Given the description of an element on the screen output the (x, y) to click on. 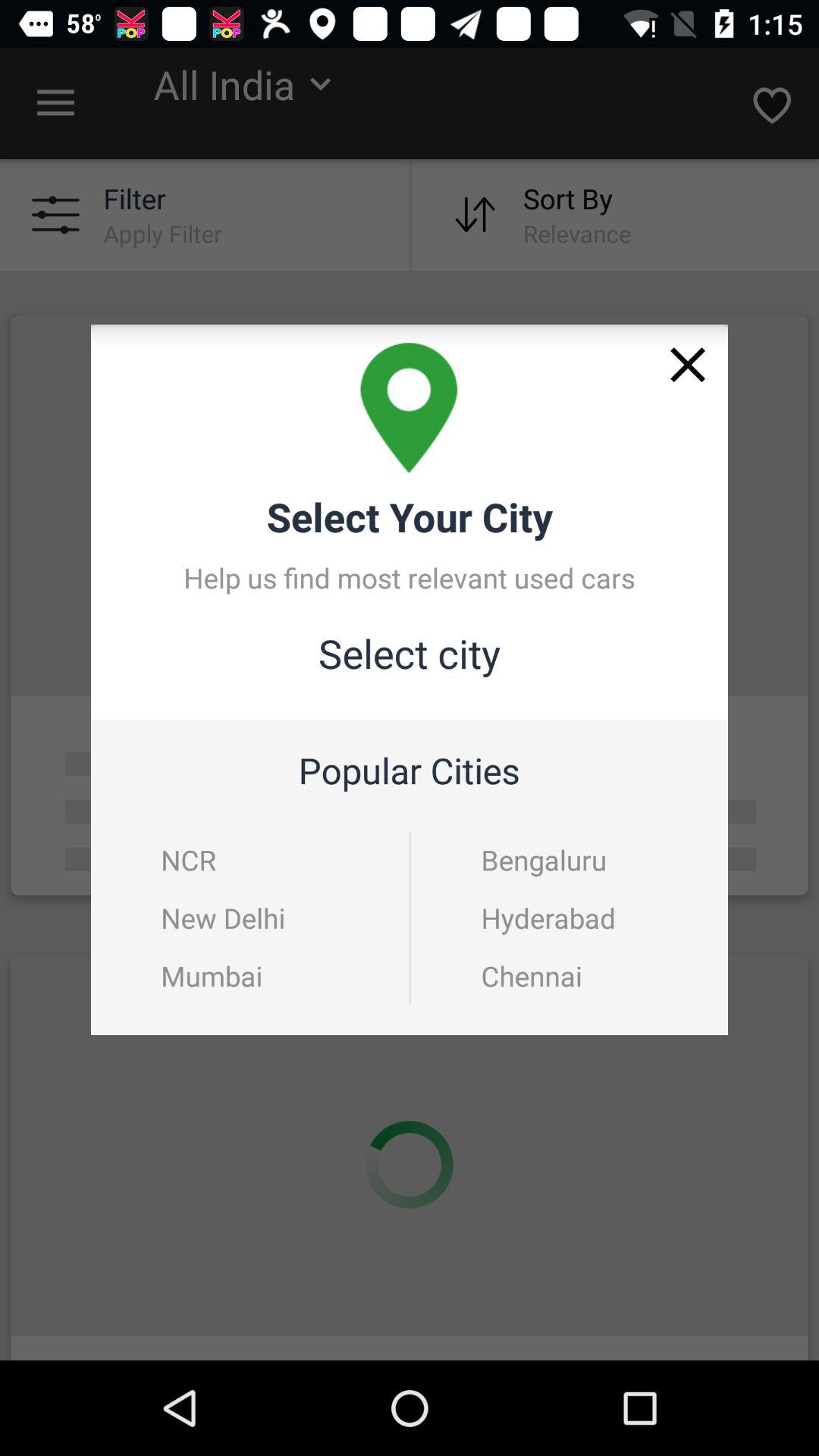
choose item below the ncr icon (222, 917)
